Given the description of an element on the screen output the (x, y) to click on. 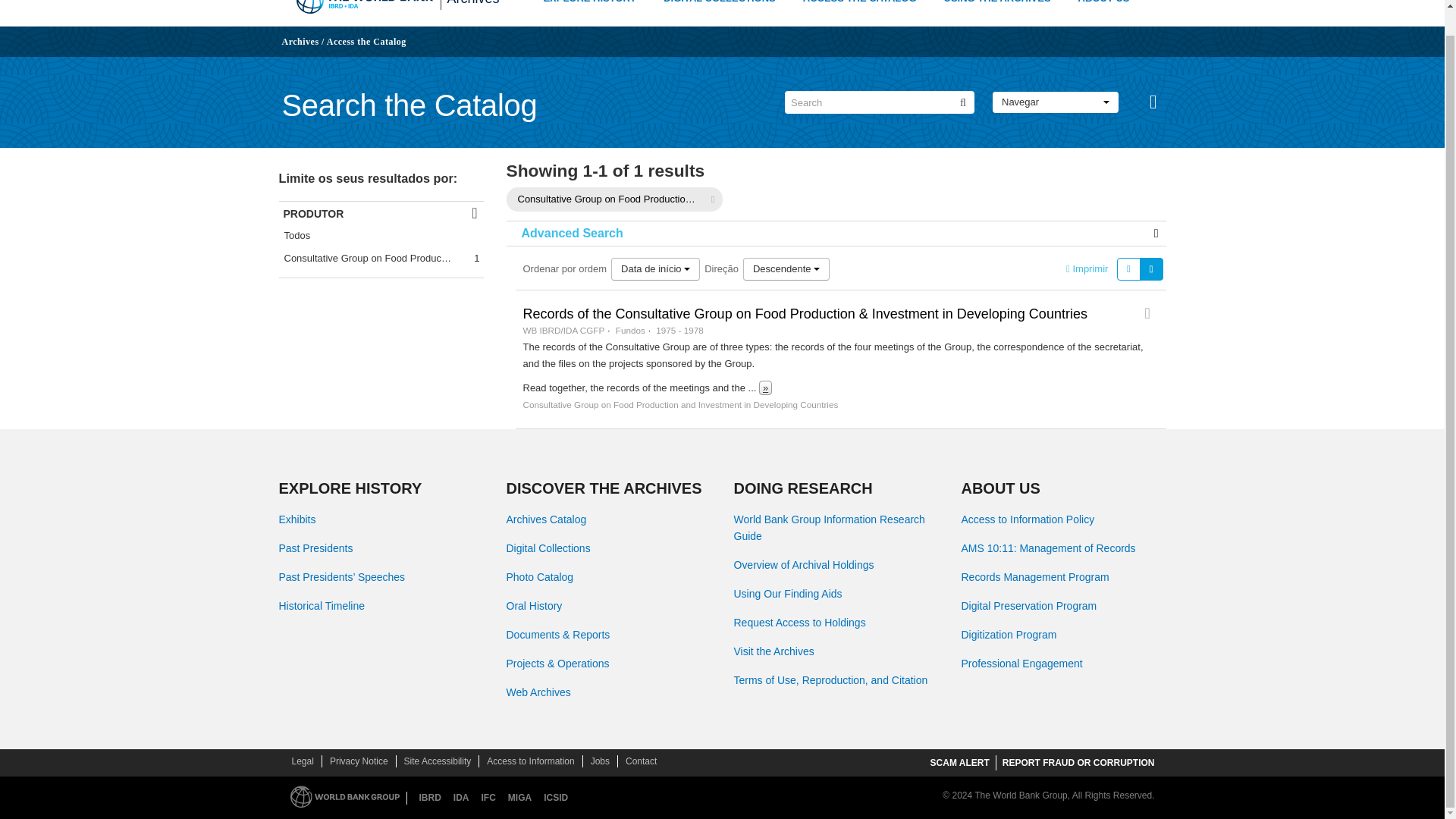
International Finance Corporation (489, 797)
Archives (472, 2)
Archives (300, 41)
ABOUT US (1104, 3)
EXPLORE HISTORY (589, 4)
USING THE ARCHIVES (997, 4)
International Development Association (461, 797)
ACCESS THE CATALOG (860, 4)
Todos (381, 235)
The World Bank Working for a World Free of Poverty (364, 6)
produtor (381, 212)
DIGITAL COLLECTIONS (719, 4)
